Given the description of an element on the screen output the (x, y) to click on. 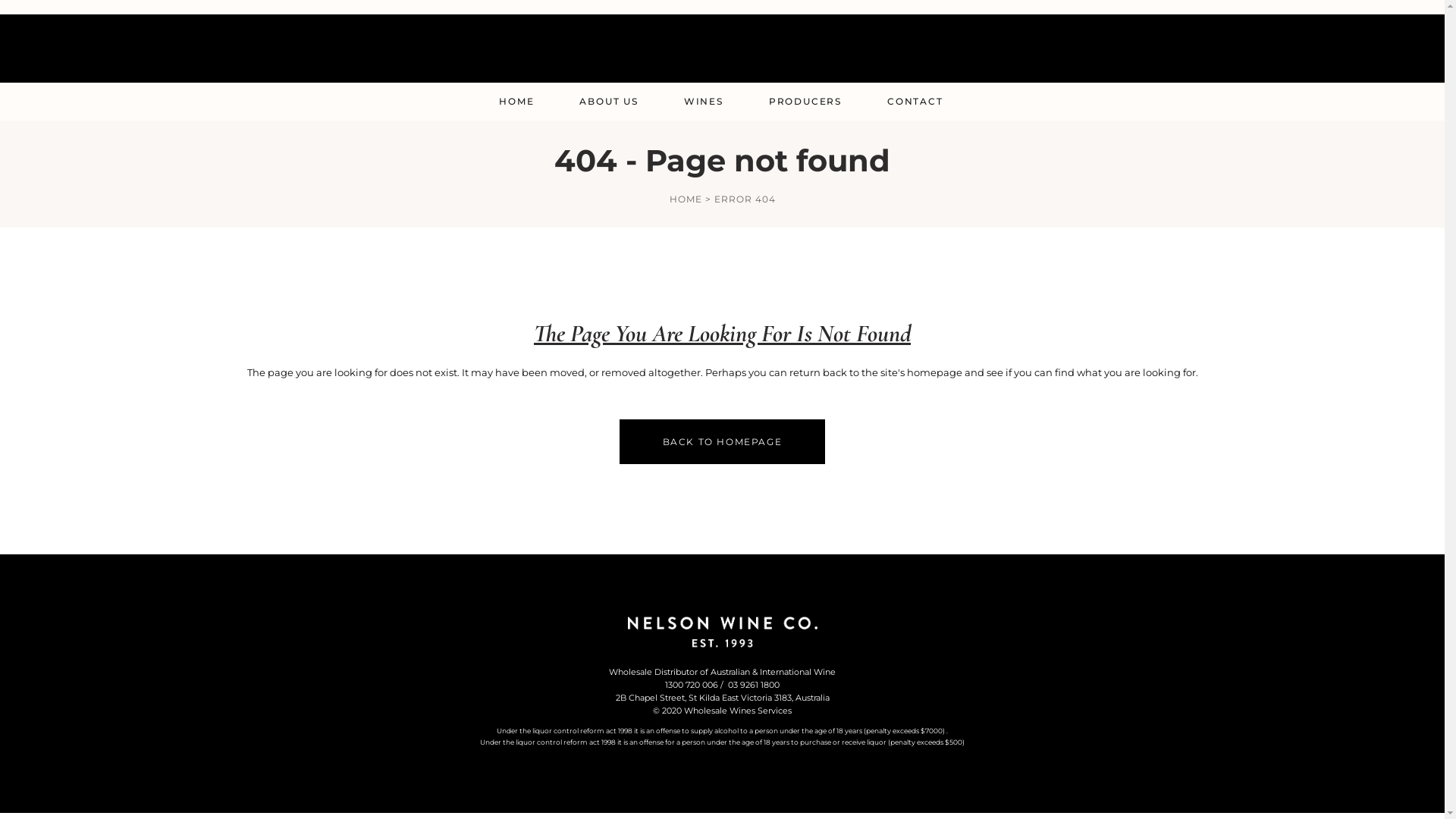
HOME Element type: text (516, 101)
BACK TO HOMEPAGE Element type: text (722, 441)
PRODUCERS Element type: text (805, 101)
CONTACT Element type: text (915, 101)
HOME Element type: text (684, 197)
ABOUT US Element type: text (608, 101)
WINES Element type: text (703, 101)
